Given the description of an element on the screen output the (x, y) to click on. 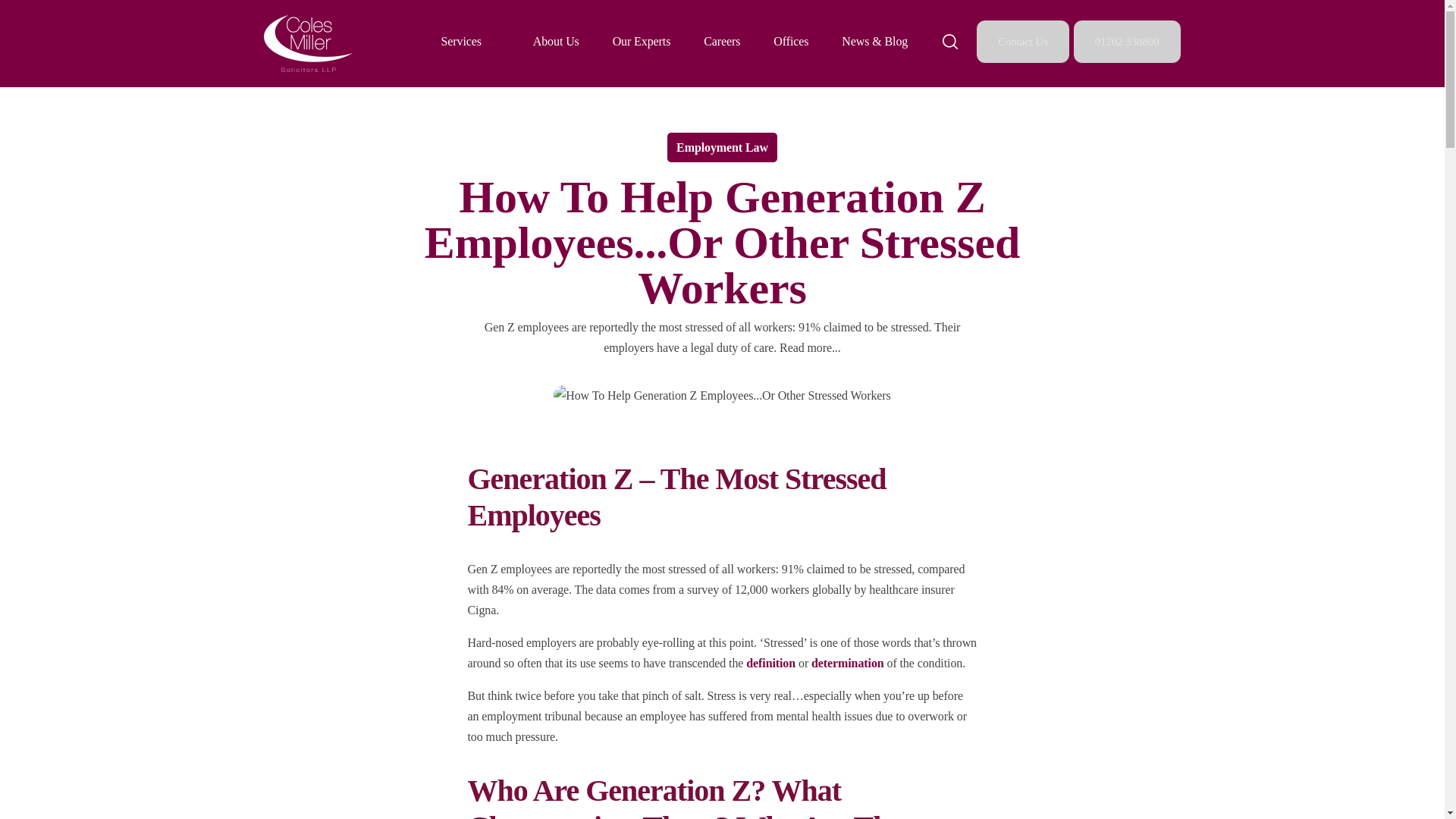
Offices (790, 41)
Contact Us (1022, 41)
Contact Us (1024, 41)
white text - transparent (307, 43)
01202 338800 (1126, 41)
Employment Law (721, 146)
01202 338800 (1126, 41)
About Us (555, 41)
definition (769, 662)
Our Experts (641, 41)
